Given the description of an element on the screen output the (x, y) to click on. 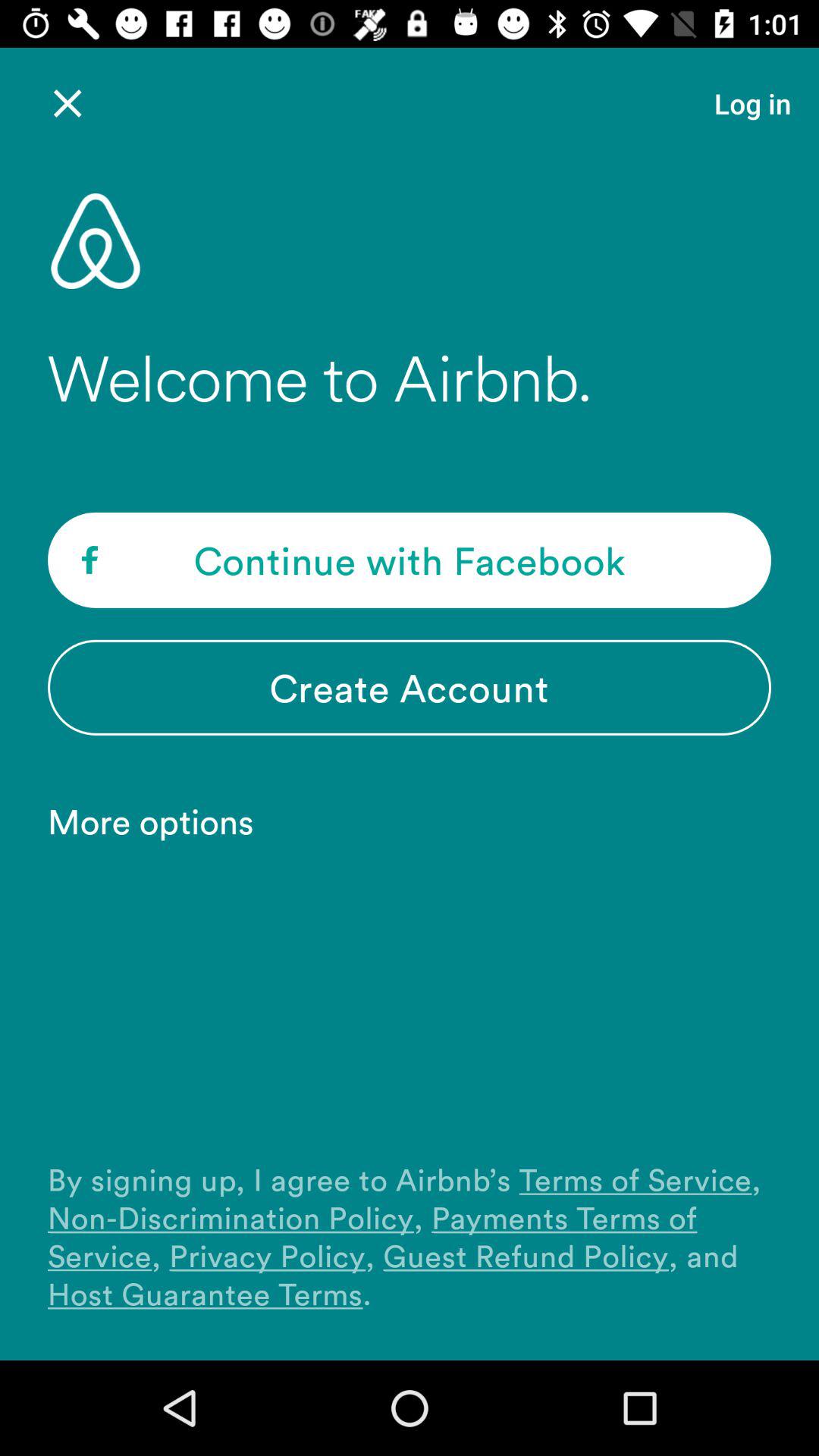
launch the more options item (158, 820)
